Given the description of an element on the screen output the (x, y) to click on. 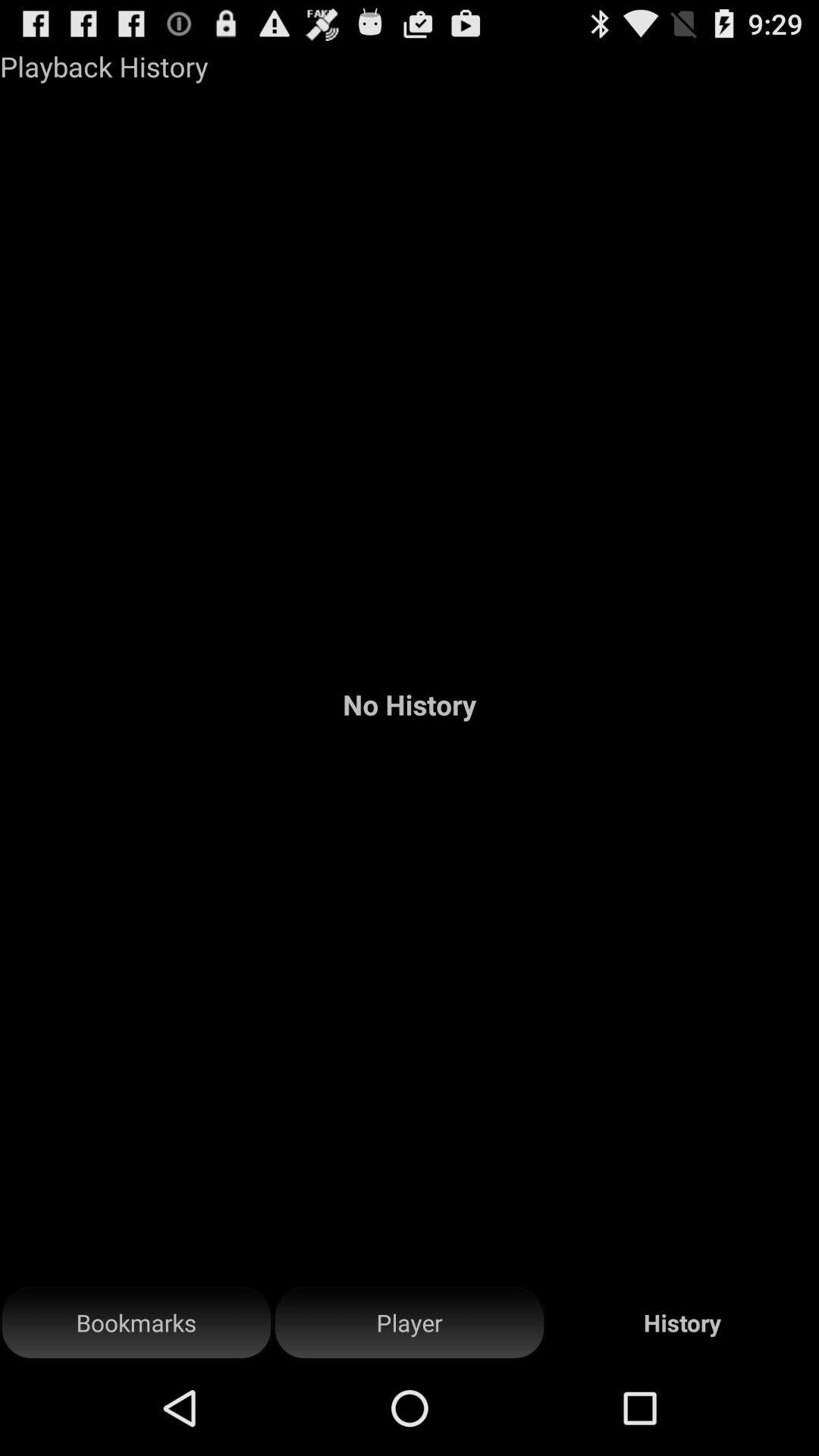
select the button at the bottom left corner (136, 1323)
